Given the description of an element on the screen output the (x, y) to click on. 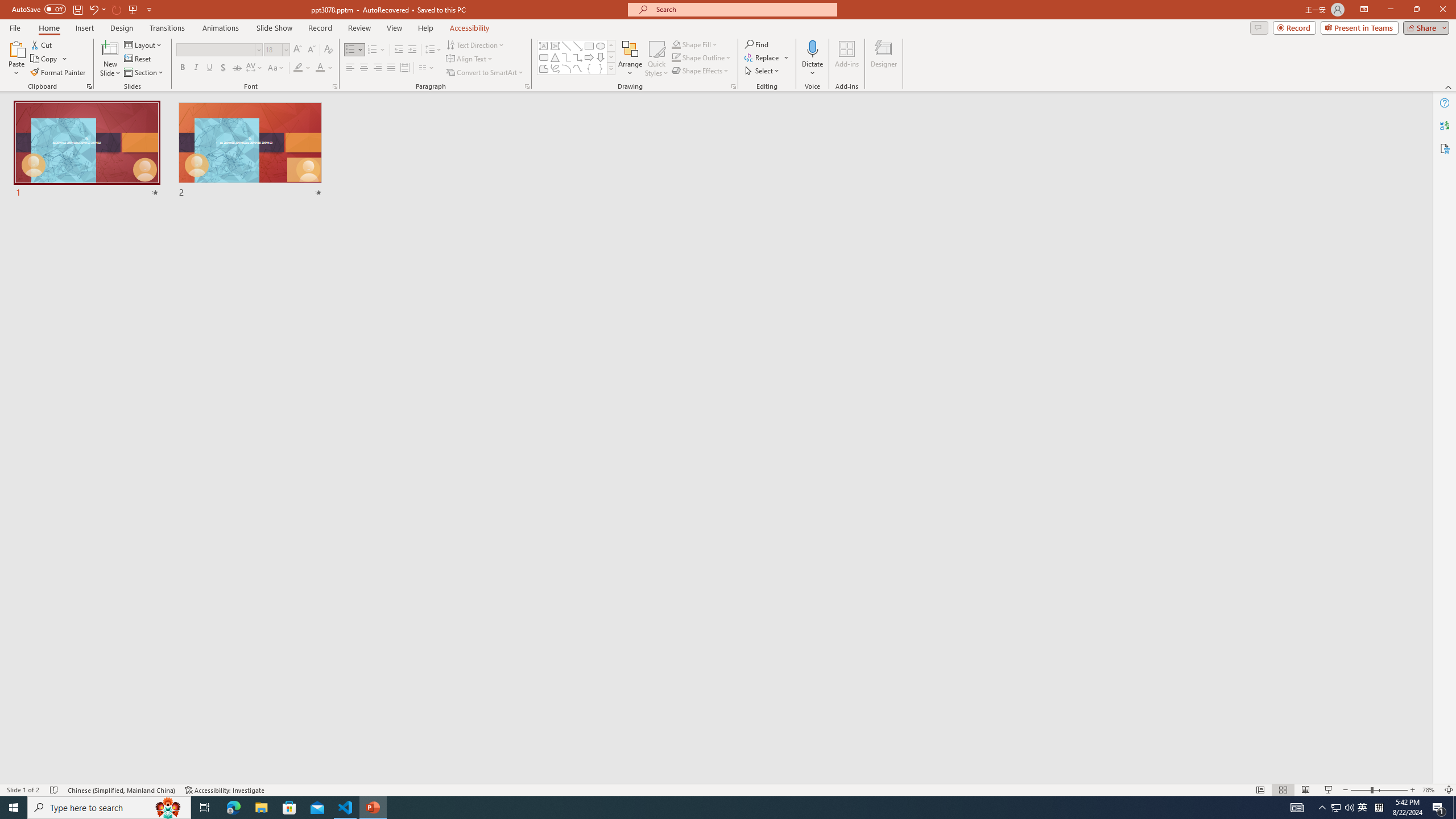
Zoom 78% (1430, 790)
